Given the description of an element on the screen output the (x, y) to click on. 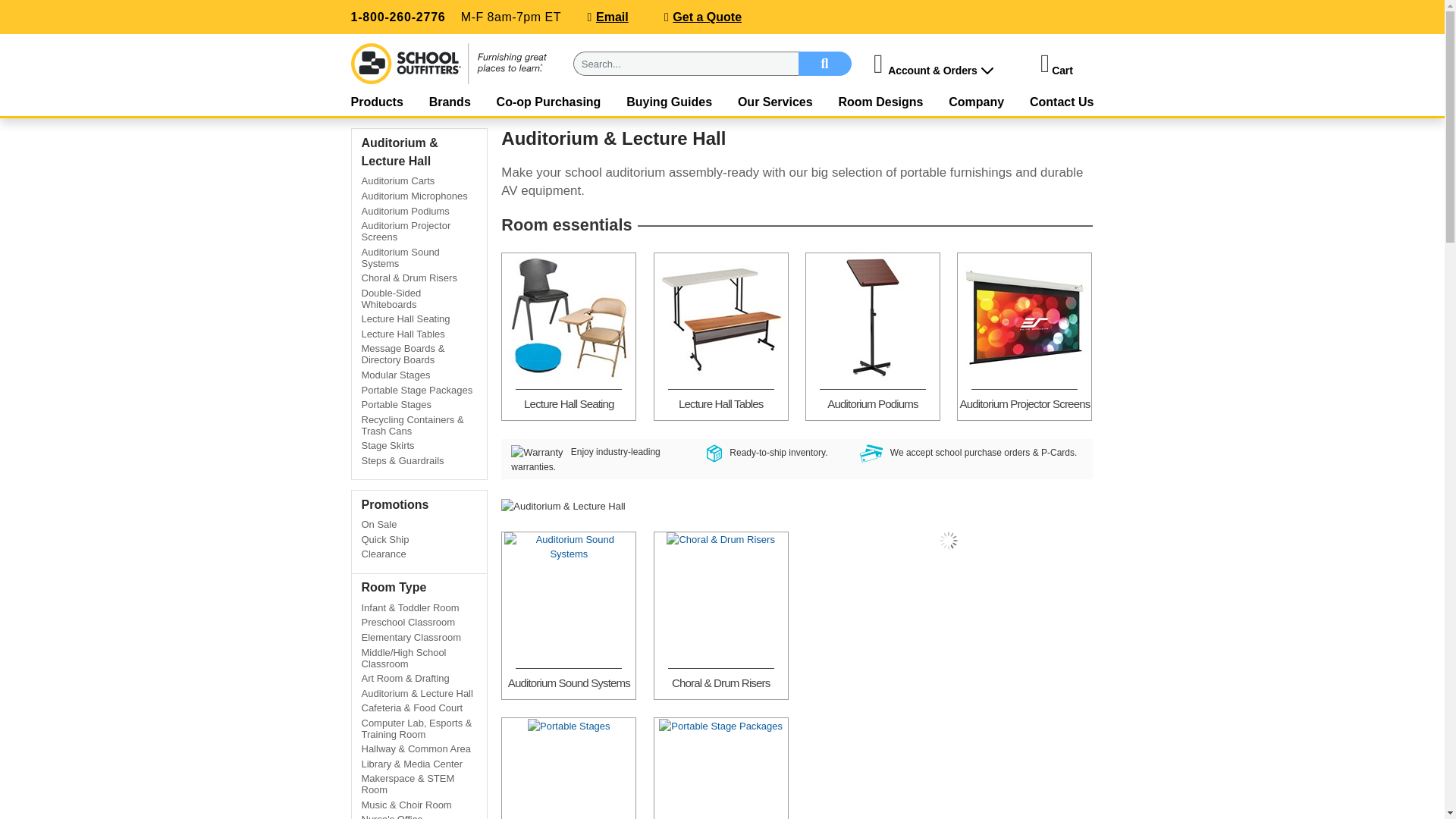
Lecture Hall Tables (721, 317)
School Outfitters - Furnishing great places to learn. (448, 63)
Cart (1061, 70)
Portable Stage Packages (721, 726)
Auditorium Sound Systems (568, 546)
Auditorium Podiums (872, 317)
Auditorium Projector Screens (1024, 317)
Get a Quote (706, 16)
Portable Stages (568, 726)
Lecture Hall Seating (568, 317)
Email (611, 16)
1-800-260-2776 (397, 16)
